Given the description of an element on the screen output the (x, y) to click on. 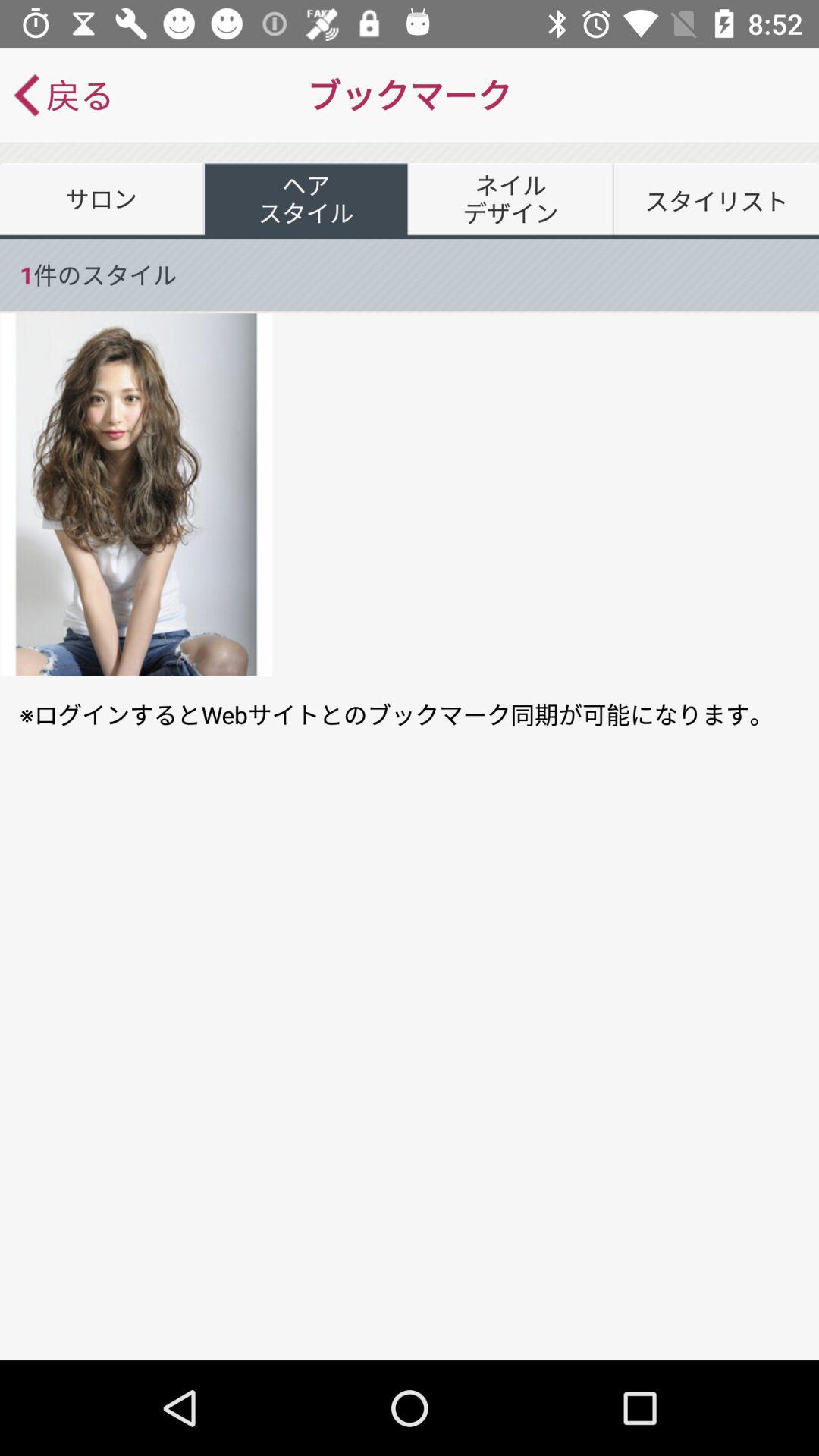
turn off the icon on the left (136, 494)
